Given the description of an element on the screen output the (x, y) to click on. 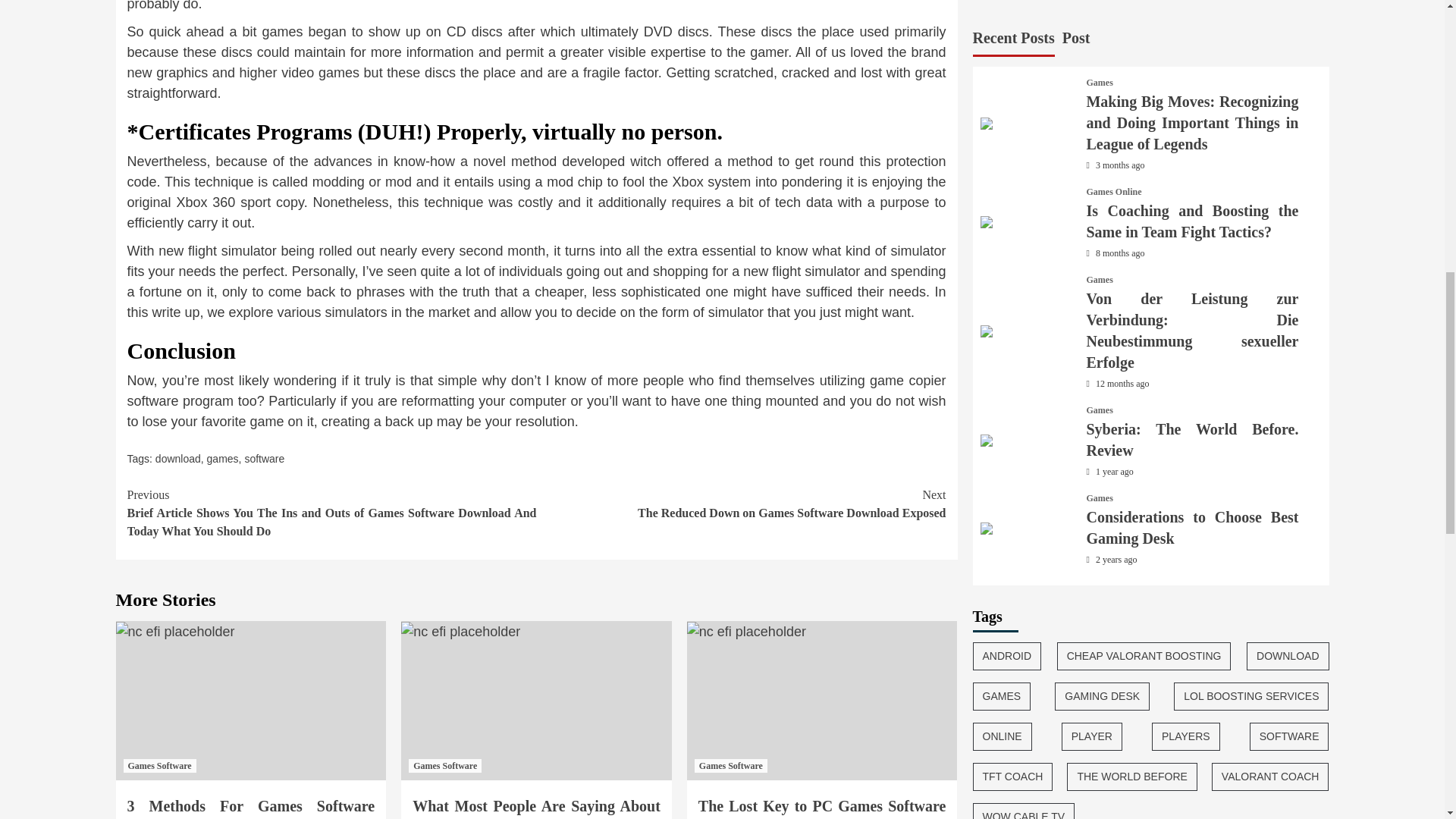
software (263, 458)
download (177, 458)
3 Methods For Games Software Download Today You Can Use (251, 808)
Games Software (158, 766)
games (222, 458)
The Lost Key to PC Games Software Found (746, 631)
Games Software (730, 766)
The Lost Key to PC Games Software Found (822, 808)
Games Software (445, 766)
3 Methods For Games Software Download Today You Can Use (741, 504)
